Given the description of an element on the screen output the (x, y) to click on. 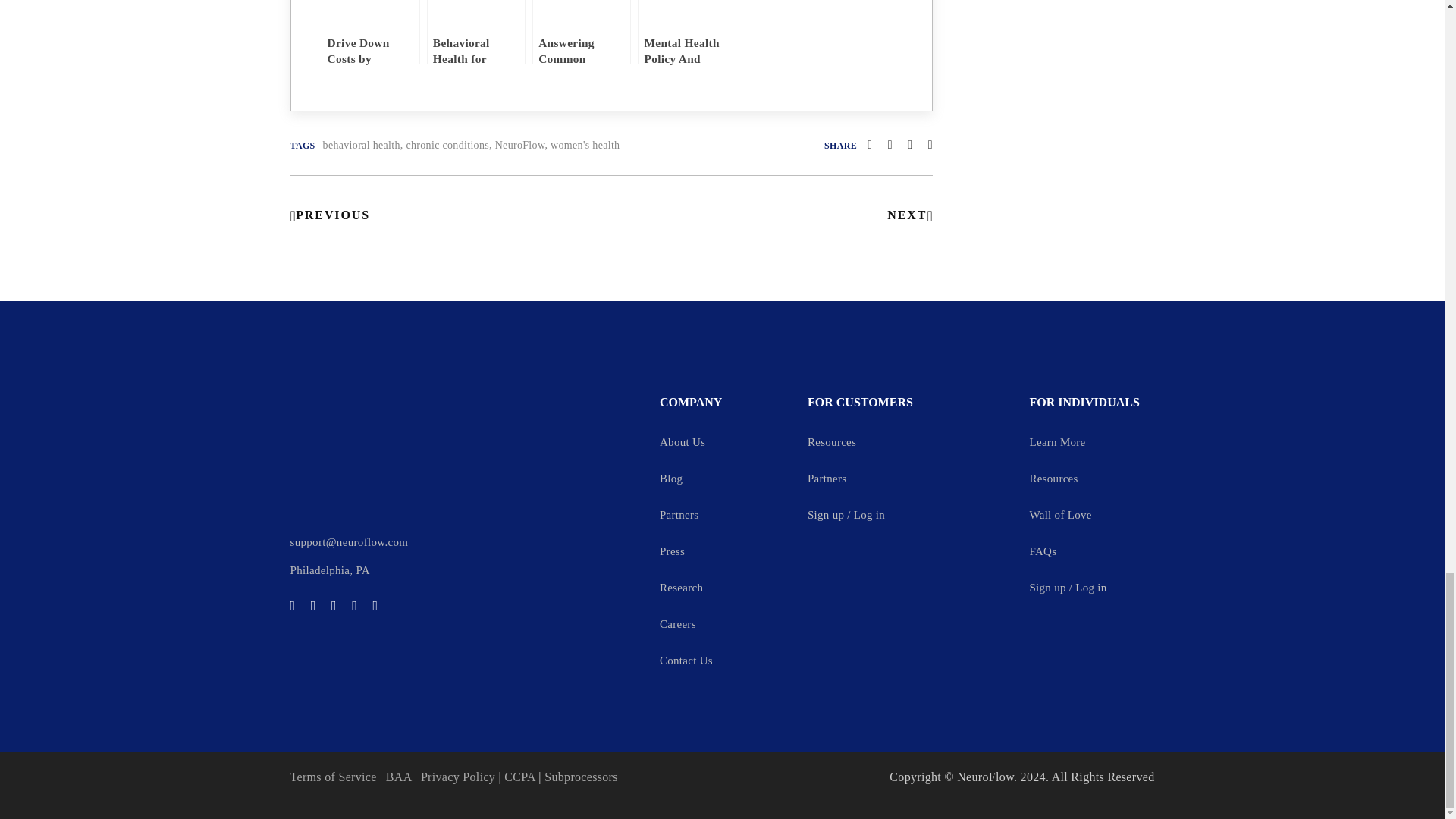
Drive Down Costs by Ramping Up Behavioral Health (370, 32)
Behavioral Health for Veterans: A Better Path Forward (475, 32)
